Given the description of an element on the screen output the (x, y) to click on. 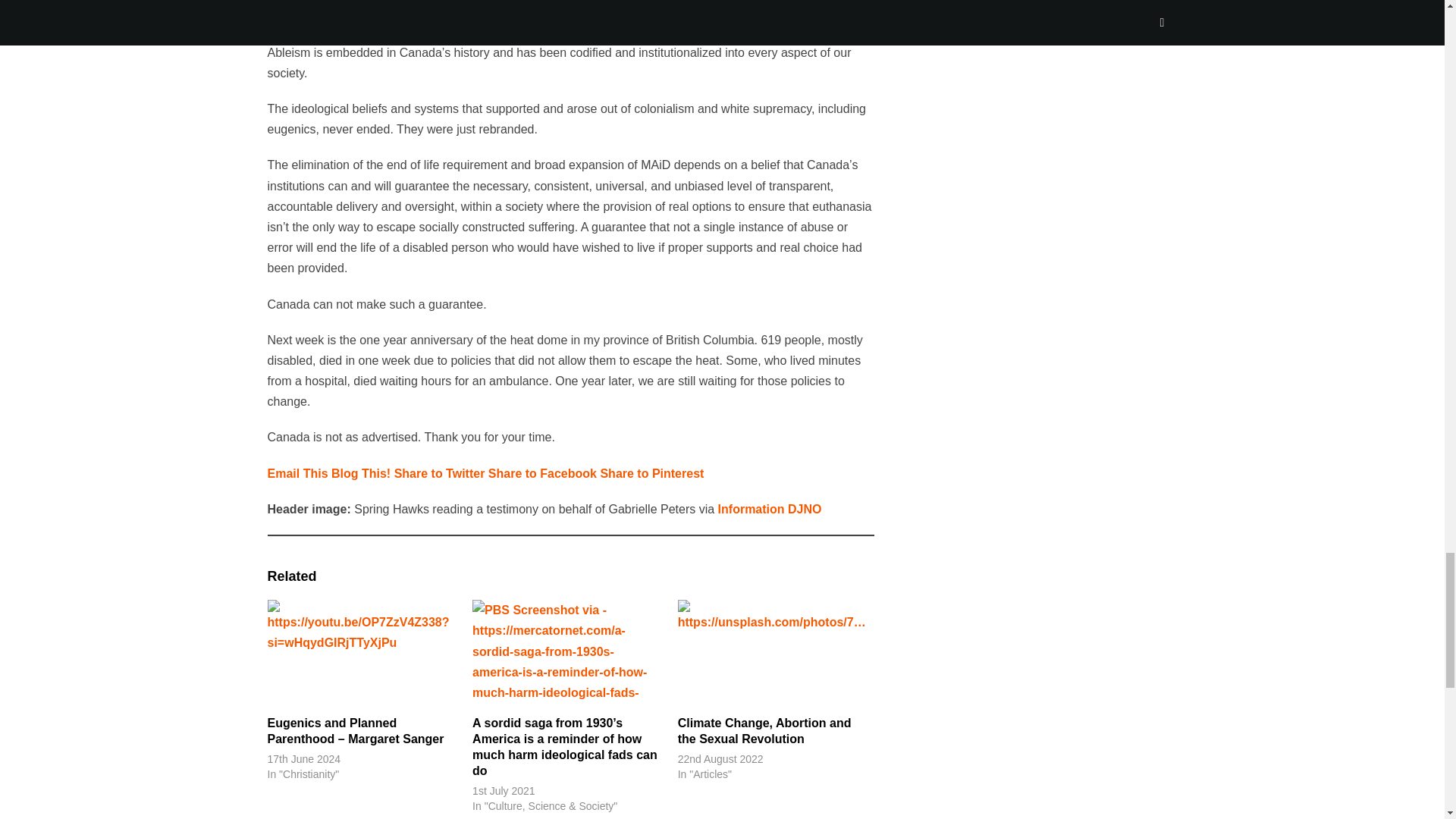
Climate Change, Abortion and the Sexual Revolution (764, 730)
Climate Change, Abortion and the Sexual Revolution (772, 653)
